Given the description of an element on the screen output the (x, y) to click on. 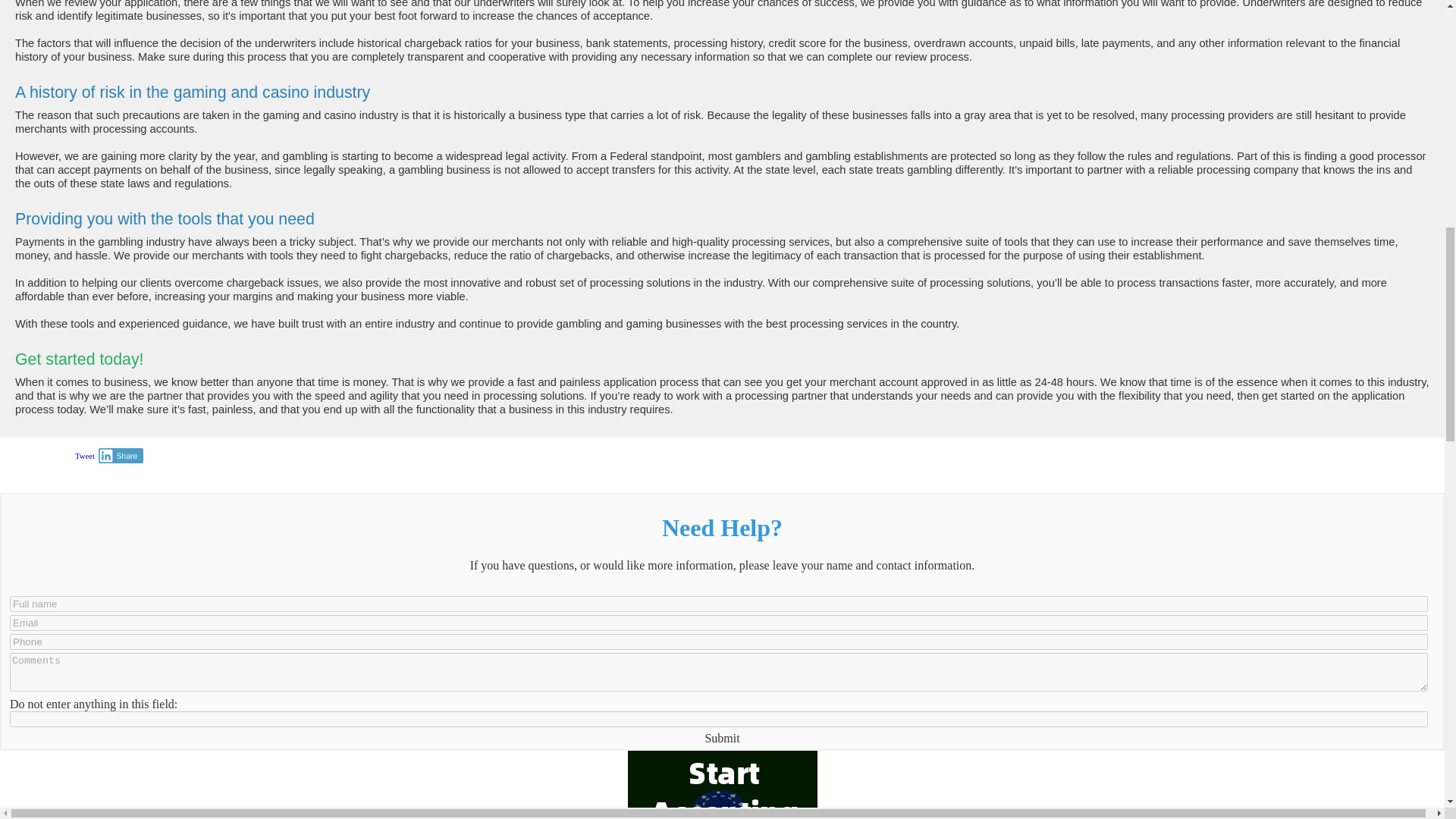
Share (120, 455)
Tweet (85, 455)
